Given the description of an element on the screen output the (x, y) to click on. 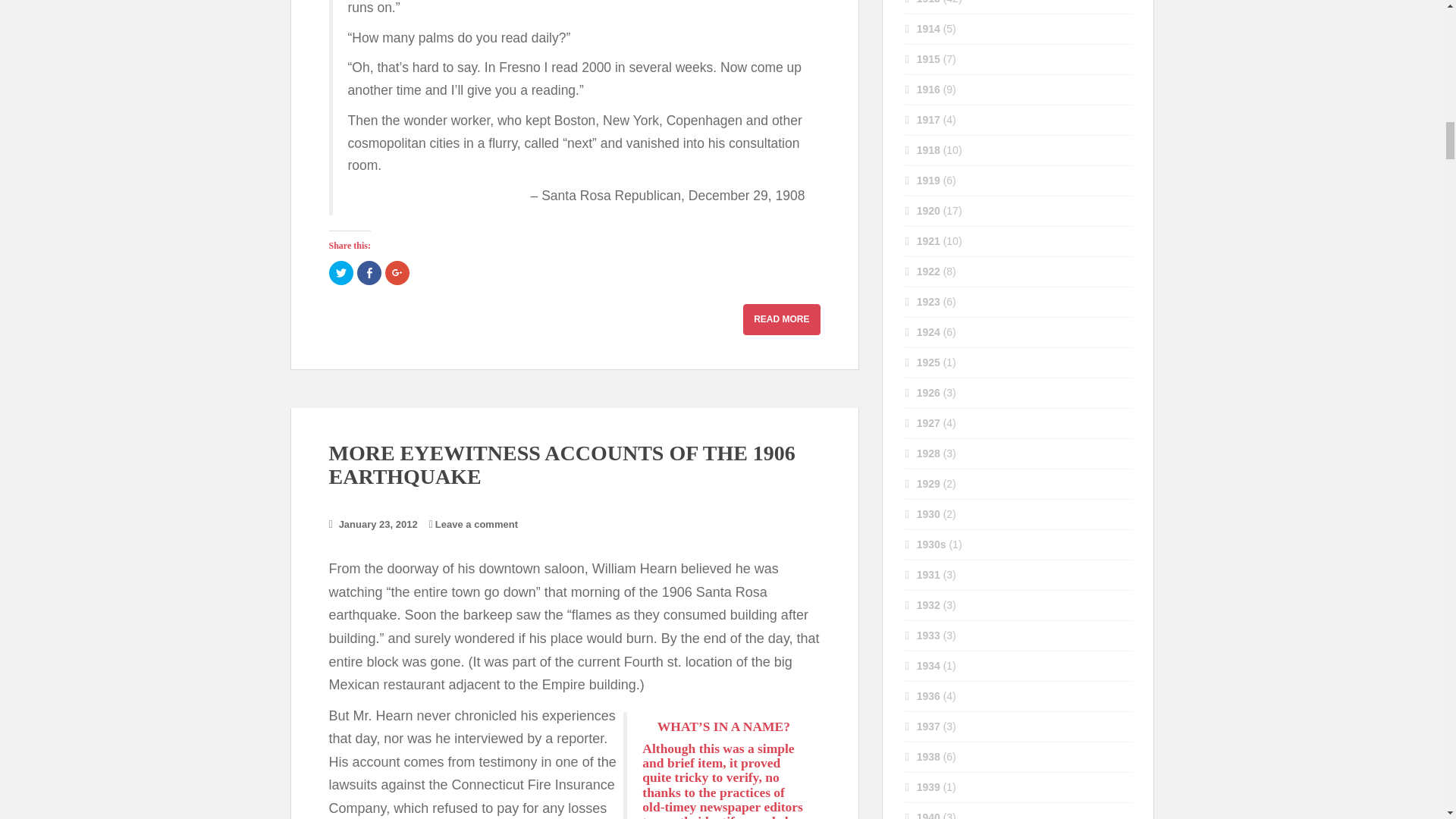
Click to share on Twitter (341, 273)
THE PALMIST WILL SEE YOU NOW (780, 318)
January 23, 2012 (378, 523)
Leave a comment (476, 523)
Share on Facebook (368, 273)
READ MORE (780, 318)
MORE EYEWITNESS ACCOUNTS OF THE 1906 EARTHQUAKE (561, 464)
